Given the description of an element on the screen output the (x, y) to click on. 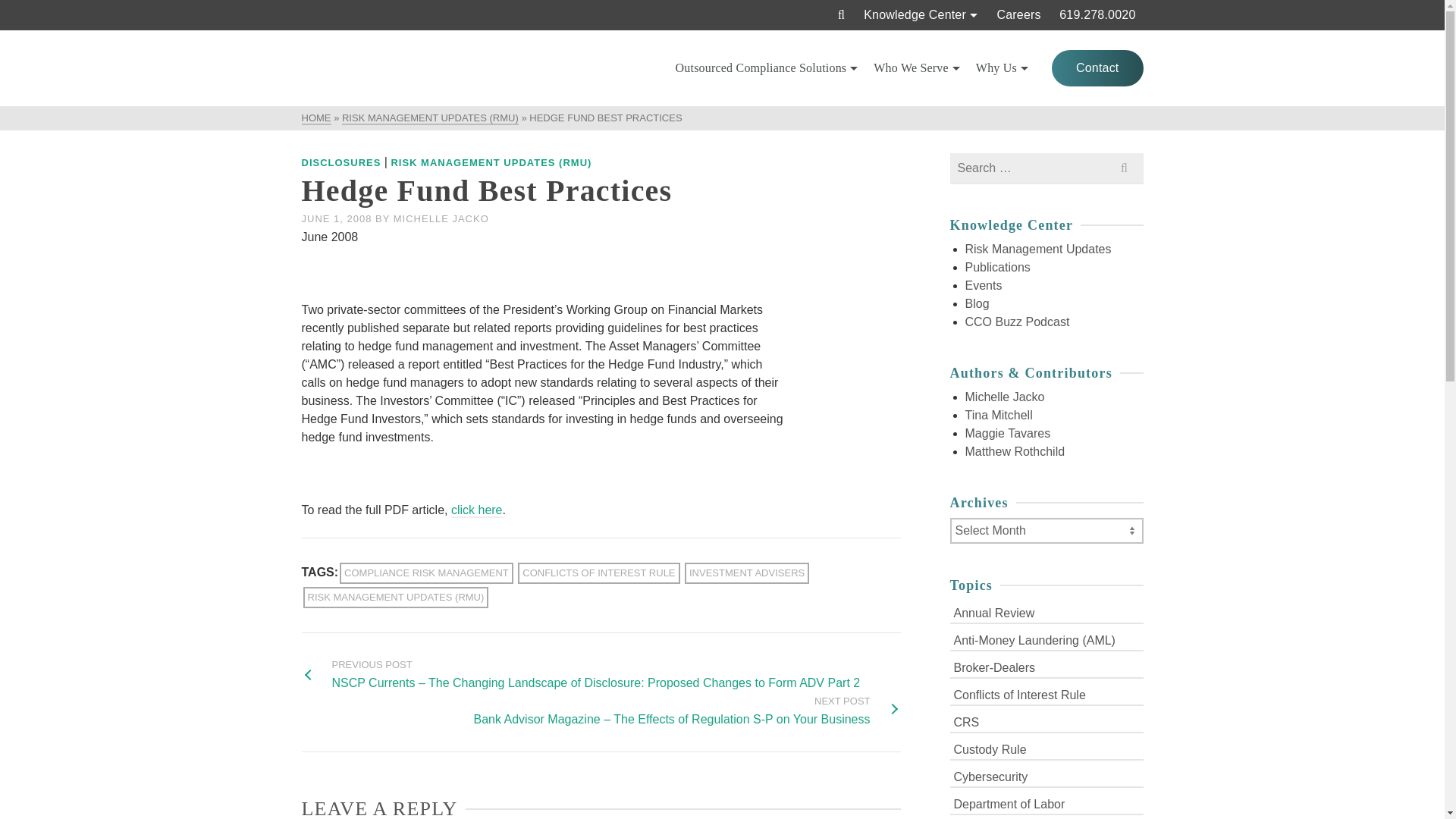
MICHELLE JACKO (441, 218)
Why Us (1002, 68)
Outsourced Compliance Solutions (767, 68)
Knowledge Center (920, 14)
619.278.0020 (1096, 14)
COMPLIANCE RISK MANAGEMENT (426, 572)
Careers (1018, 14)
Contact (1096, 67)
CONFLICTS OF INTEREST RULE (598, 572)
INVESTMENT ADVISERS (746, 572)
